Given the description of an element on the screen output the (x, y) to click on. 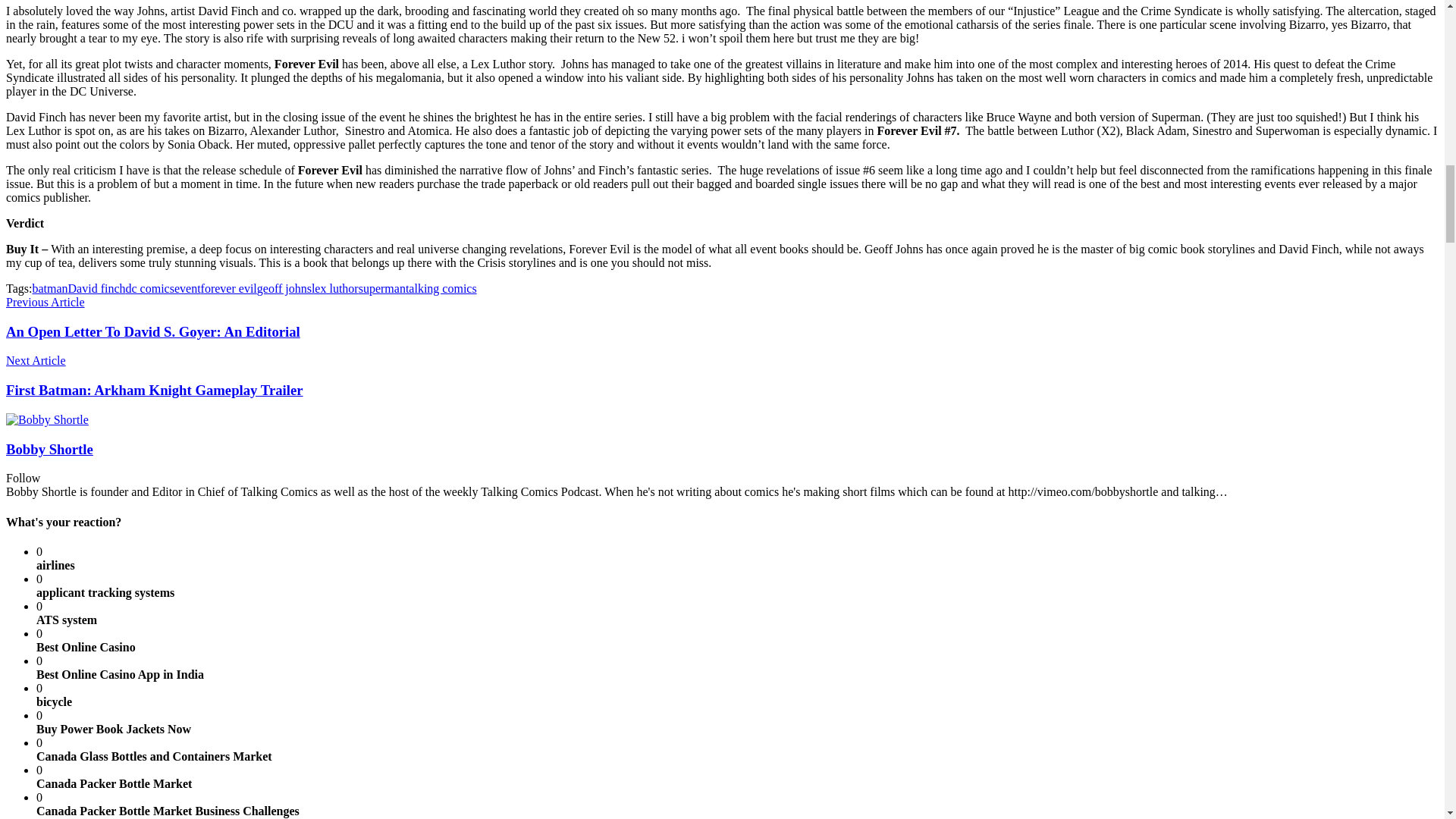
dc comics (149, 287)
event (187, 287)
geoff johns (284, 287)
David finch (96, 287)
lex luthor (334, 287)
batman (49, 287)
forever evil (228, 287)
superman (382, 287)
